Given the description of an element on the screen output the (x, y) to click on. 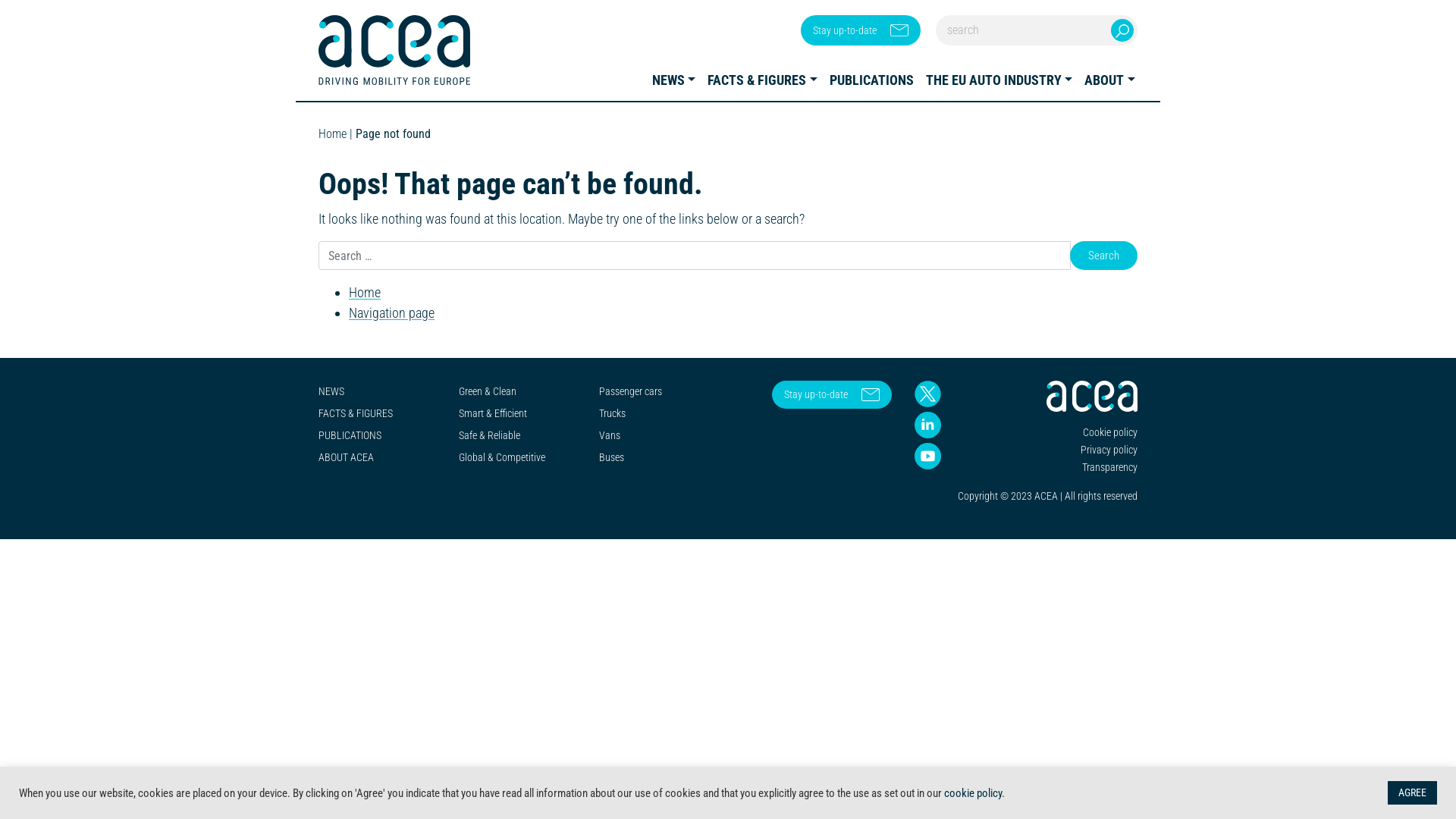
ABOUT Element type: text (1109, 79)
NEWS Element type: text (674, 79)
Vans Element type: text (609, 435)
Navigation page Element type: text (391, 312)
AGREE Element type: text (1412, 792)
Home Element type: text (364, 292)
ABOUT ACEA Element type: text (345, 457)
Safe & Reliable Element type: text (489, 435)
Stay up-to-date Element type: text (860, 30)
Privacy policy Element type: text (1108, 449)
Stay up-to-date Element type: text (831, 394)
cookie policy Element type: text (972, 792)
Green & Clean Element type: text (487, 391)
PUBLICATIONS Element type: text (871, 79)
FACTS & FIGURES Element type: text (762, 79)
NEWS Element type: text (331, 391)
Smart & Efficient Element type: text (492, 413)
Trucks Element type: text (612, 413)
THE EU AUTO INDUSTRY Element type: text (999, 79)
Buses Element type: text (611, 457)
Cookie policy Element type: text (1109, 432)
Global & Competitive Element type: text (501, 457)
Search Element type: text (1103, 255)
Passenger cars Element type: text (630, 391)
Home Element type: text (332, 133)
Transparency Element type: text (1109, 467)
FACTS & FIGURES Element type: text (355, 413)
PUBLICATIONS Element type: text (349, 435)
